Given the description of an element on the screen output the (x, y) to click on. 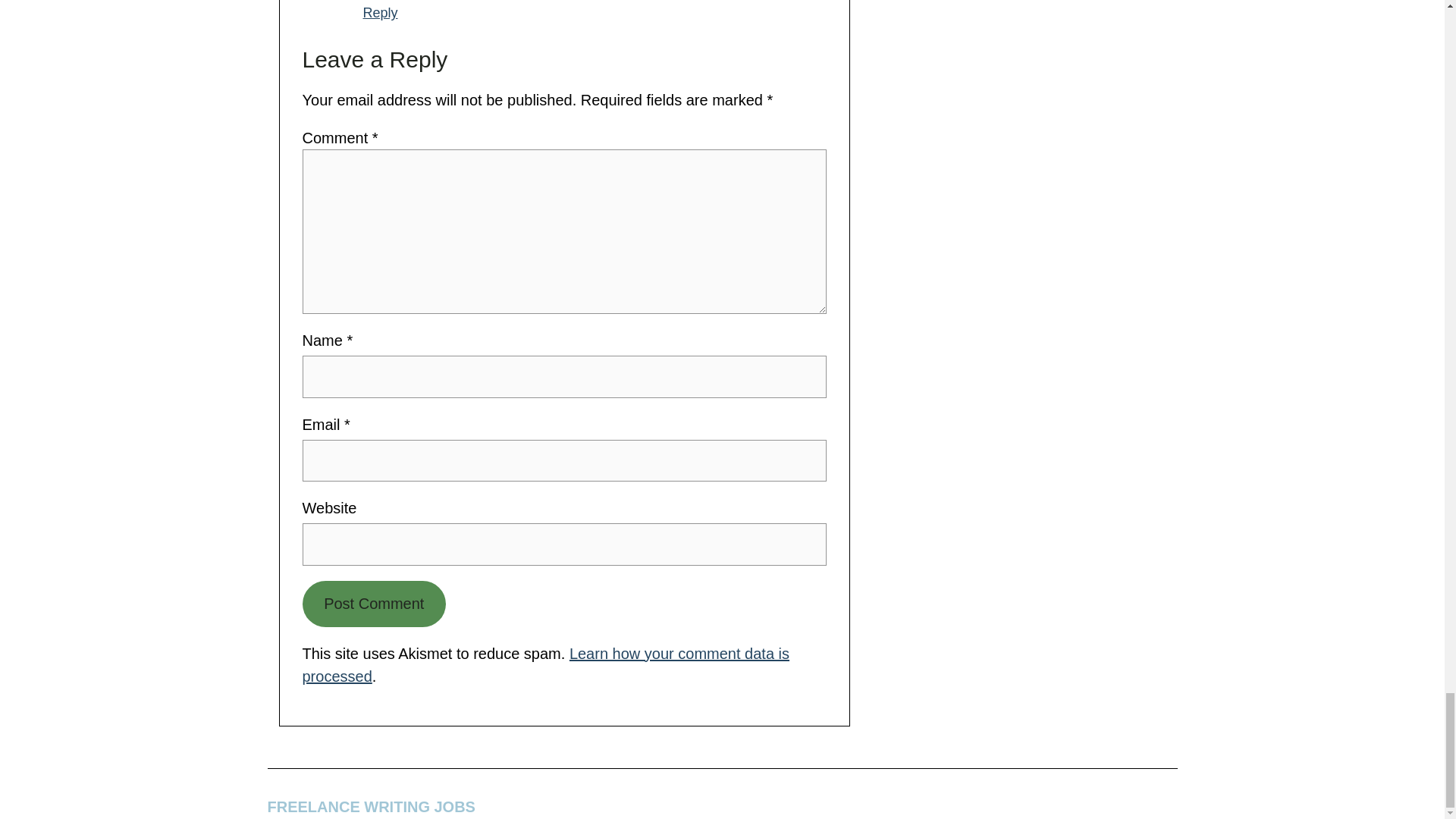
Post Comment (373, 603)
